Given the description of an element on the screen output the (x, y) to click on. 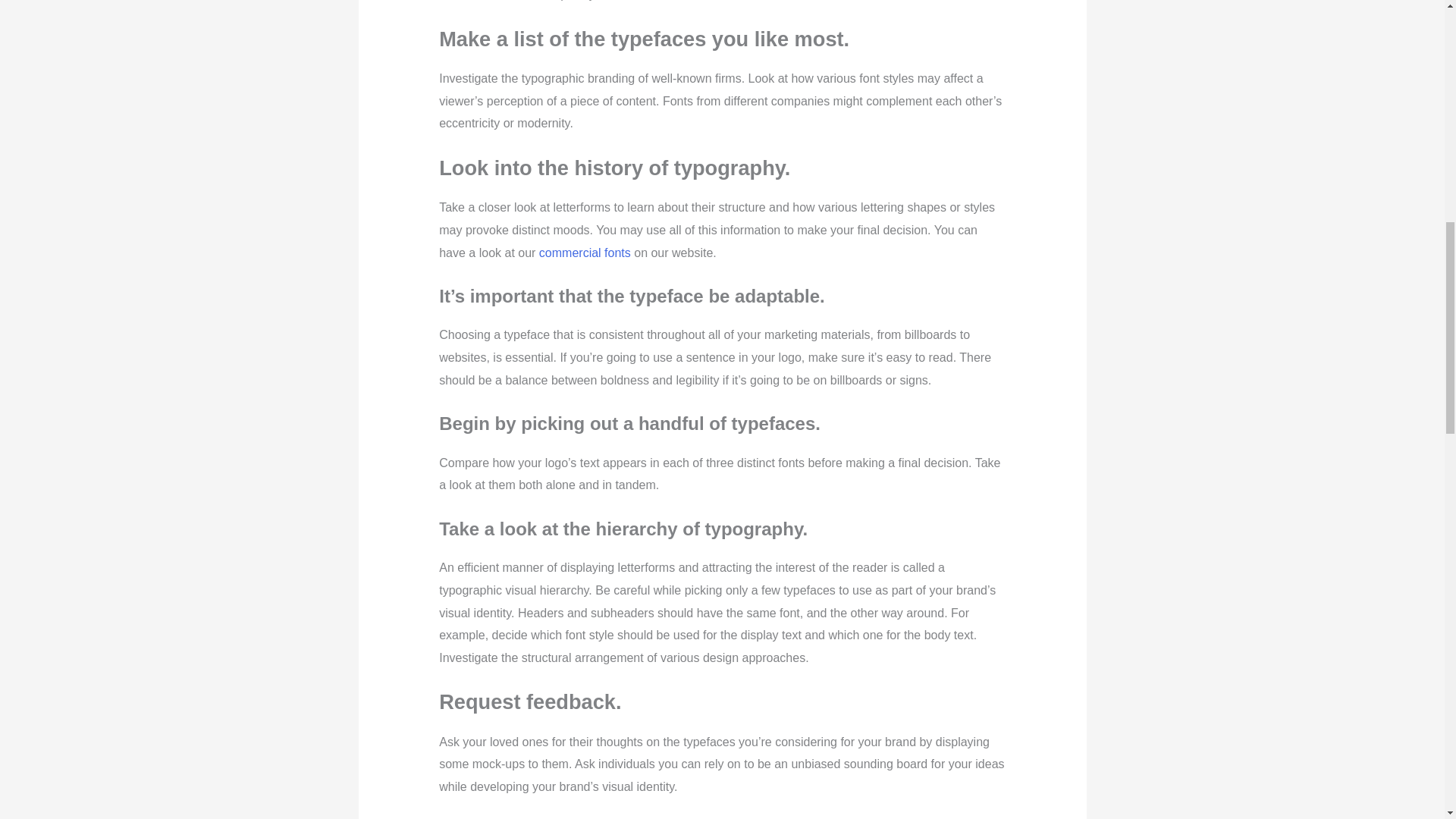
commercial fonts (584, 251)
